Given the description of an element on the screen output the (x, y) to click on. 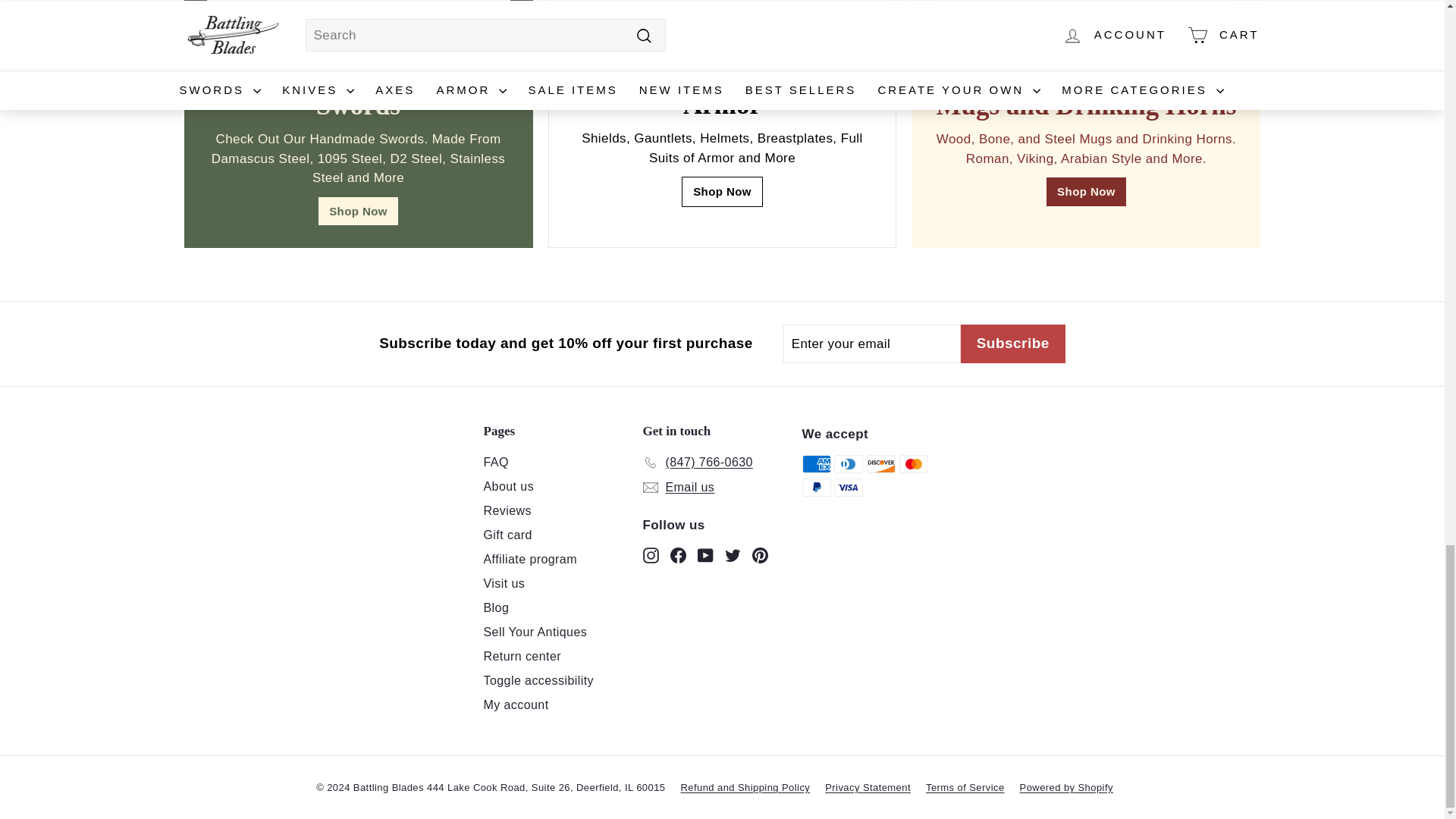
Diners Club (848, 464)
twitter (733, 555)
instagram (651, 555)
American Express (816, 464)
